Given the description of an element on the screen output the (x, y) to click on. 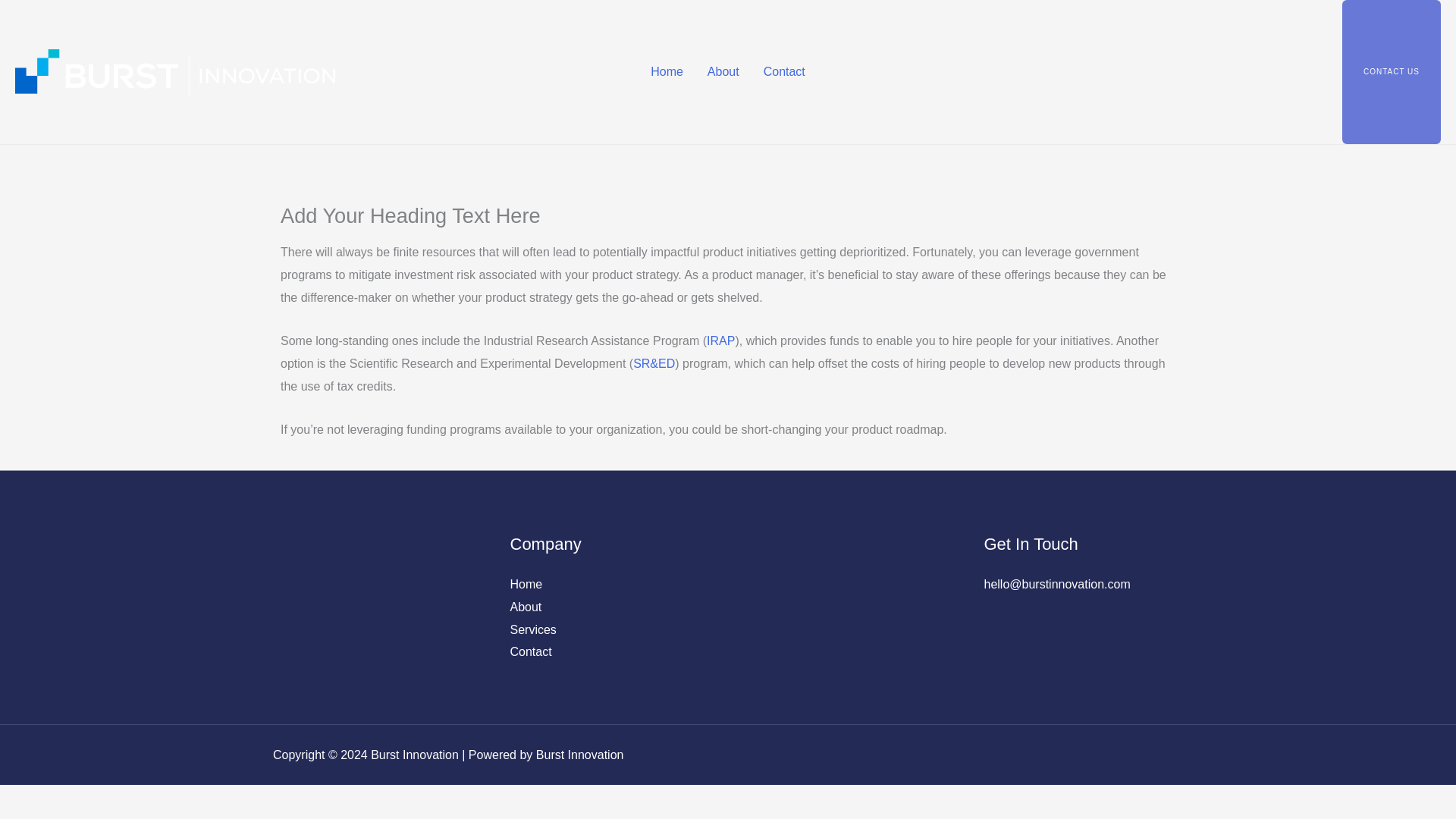
Services (532, 629)
Home (667, 71)
Home (525, 584)
About (723, 71)
Contact (783, 71)
Contact (530, 651)
About (525, 606)
IRAP (720, 340)
